Given the description of an element on the screen output the (x, y) to click on. 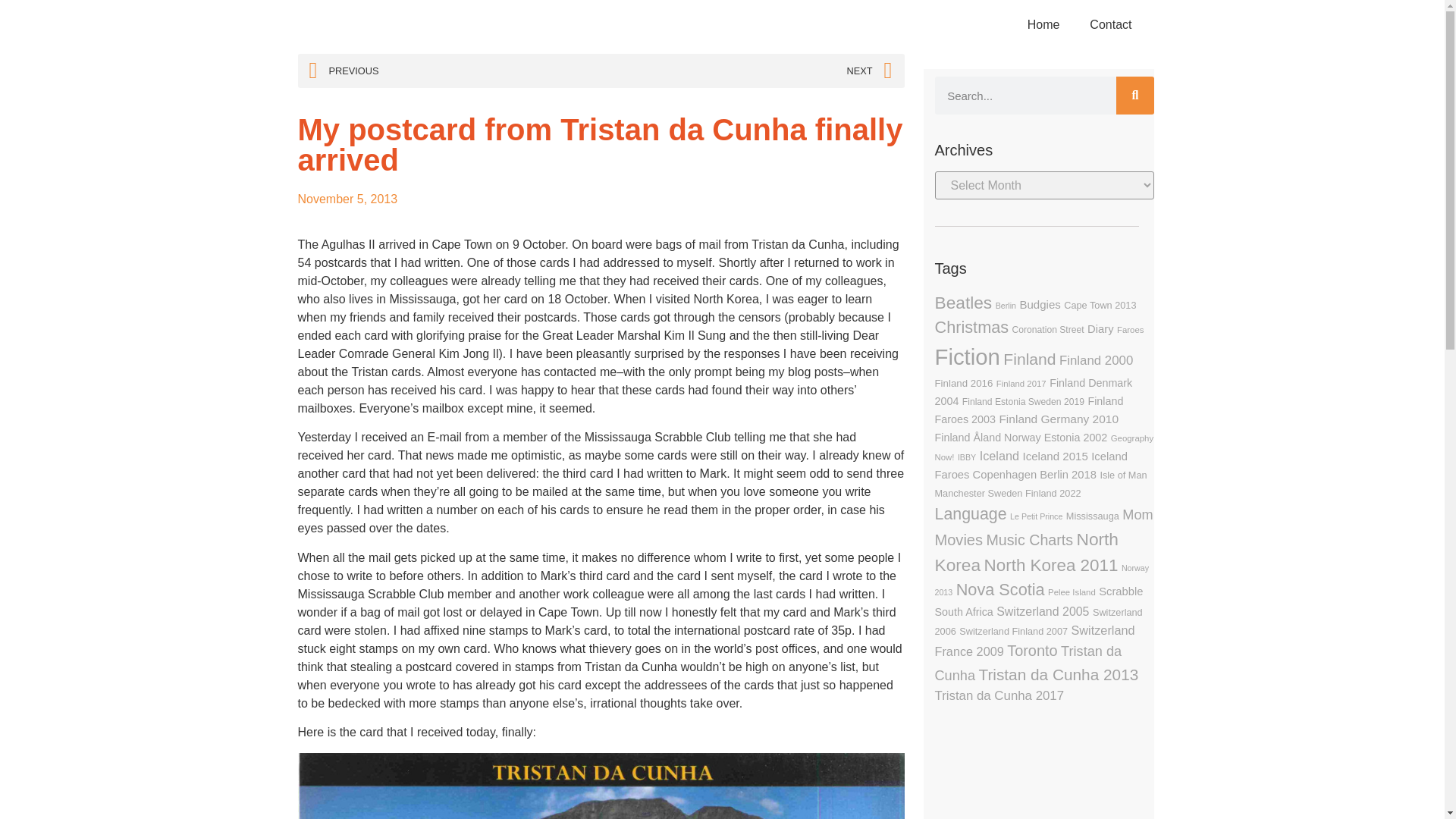
Mom (1137, 514)
Home (1043, 24)
Finland Faroes 2003 (1028, 409)
Finland 2016 (963, 383)
Berlin (1005, 305)
Coronation Street (1047, 329)
Finland Denmark 2004 (1033, 391)
Beatles (962, 302)
NEXT (745, 70)
November 5, 2013 (347, 199)
Christmas (971, 326)
Budgies (1039, 304)
Fiction (966, 356)
Cape Town 2013 (1099, 305)
Le Petit Prince (1036, 515)
